Given the description of an element on the screen output the (x, y) to click on. 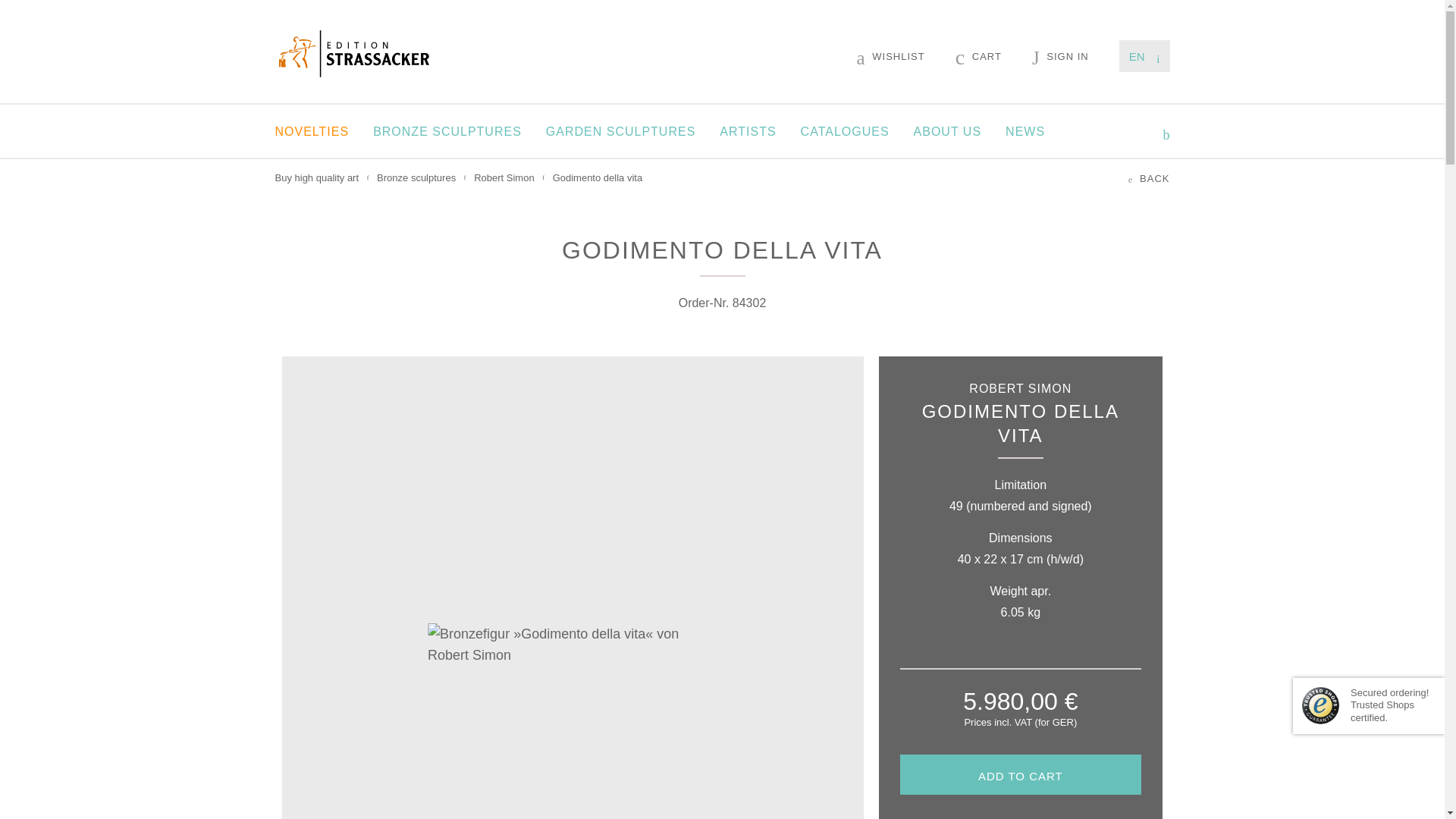
GARDEN SCULPTURES (620, 131)
WISHLIST (890, 56)
SIGN IN (1060, 56)
NOVELTIES (312, 131)
BRONZE SCULPTURES (446, 131)
CART (978, 56)
